Given the description of an element on the screen output the (x, y) to click on. 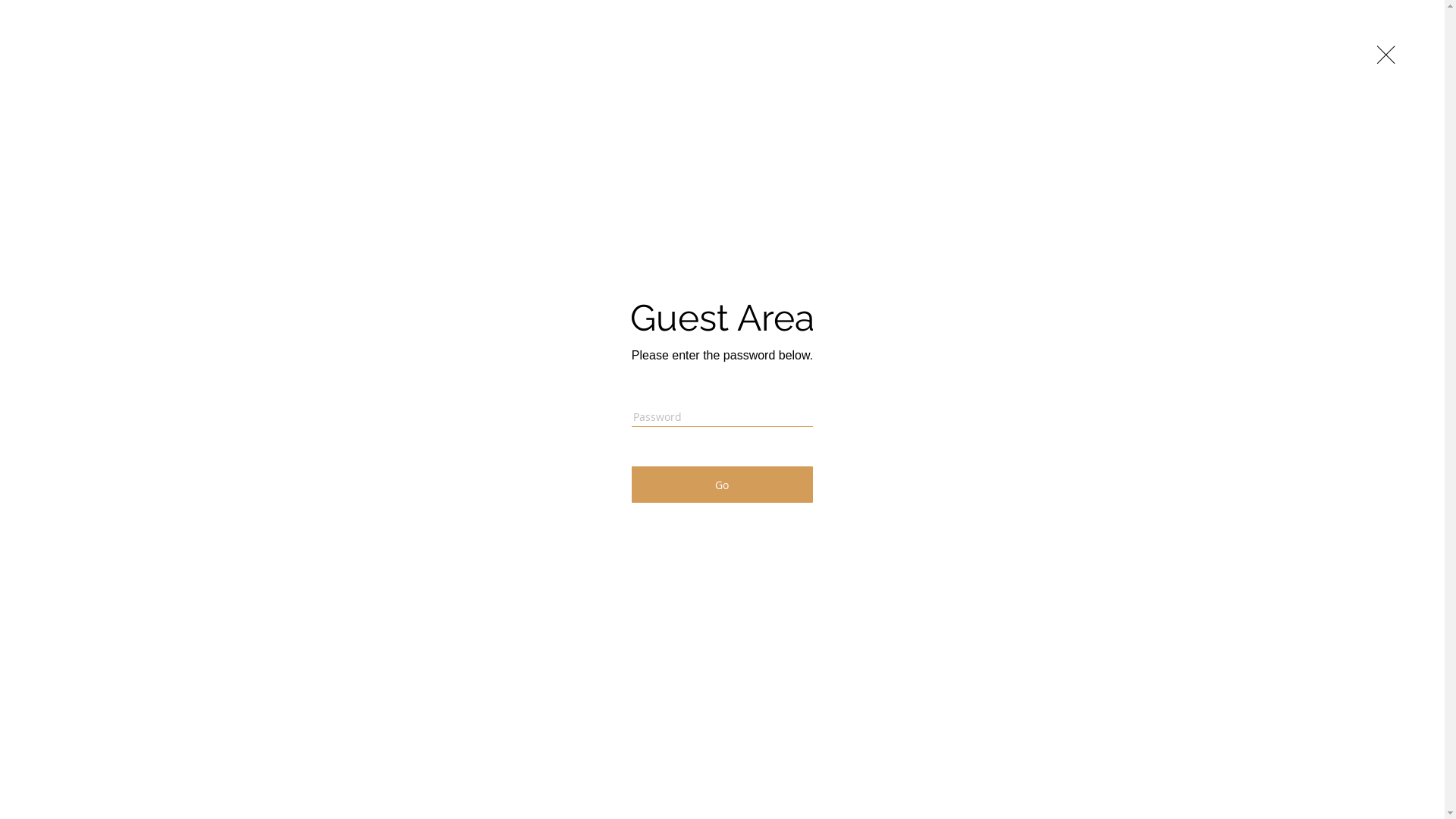
Go Element type: text (721, 484)
